Given the description of an element on the screen output the (x, y) to click on. 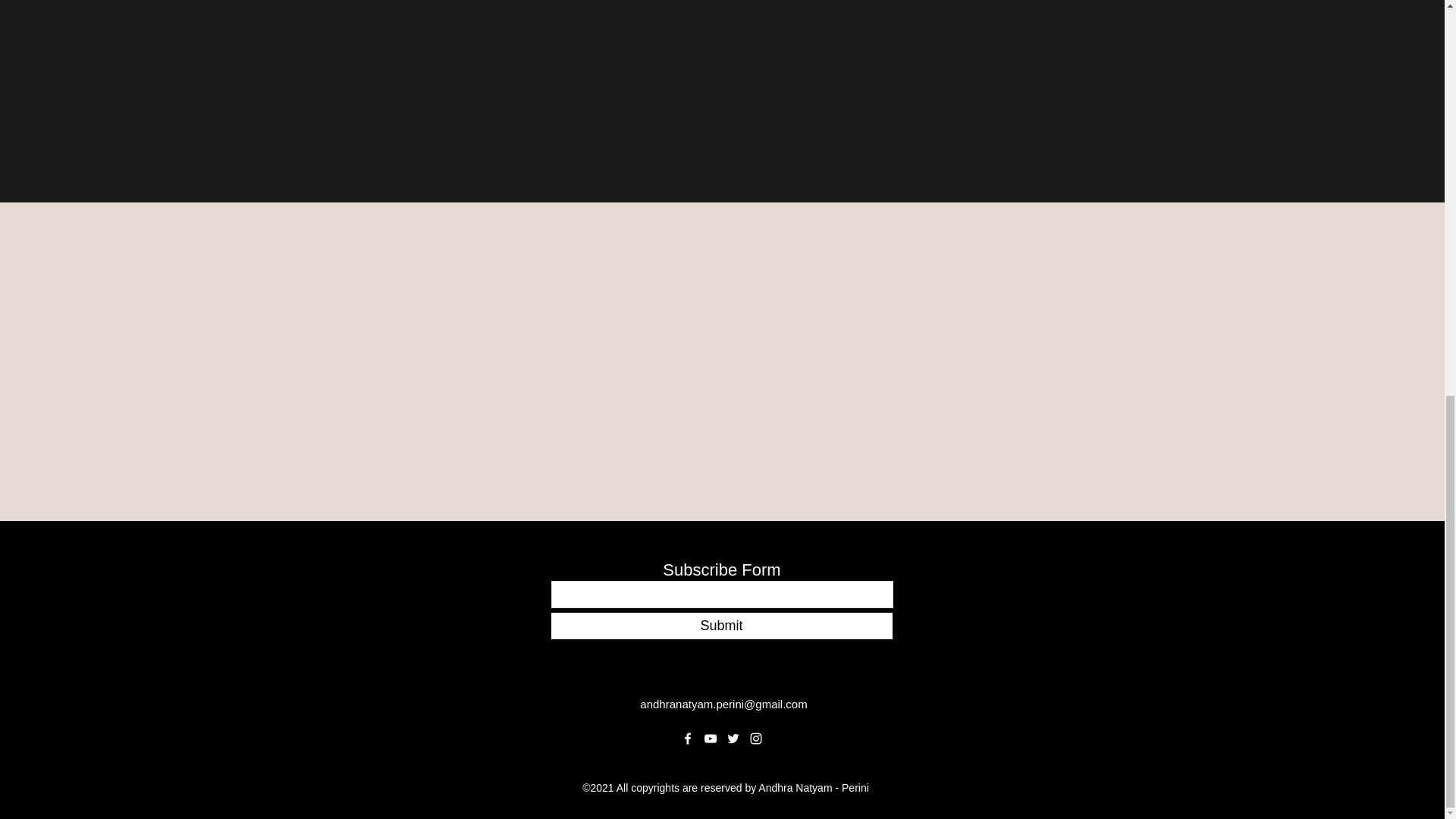
Submit (720, 625)
